Given the description of an element on the screen output the (x, y) to click on. 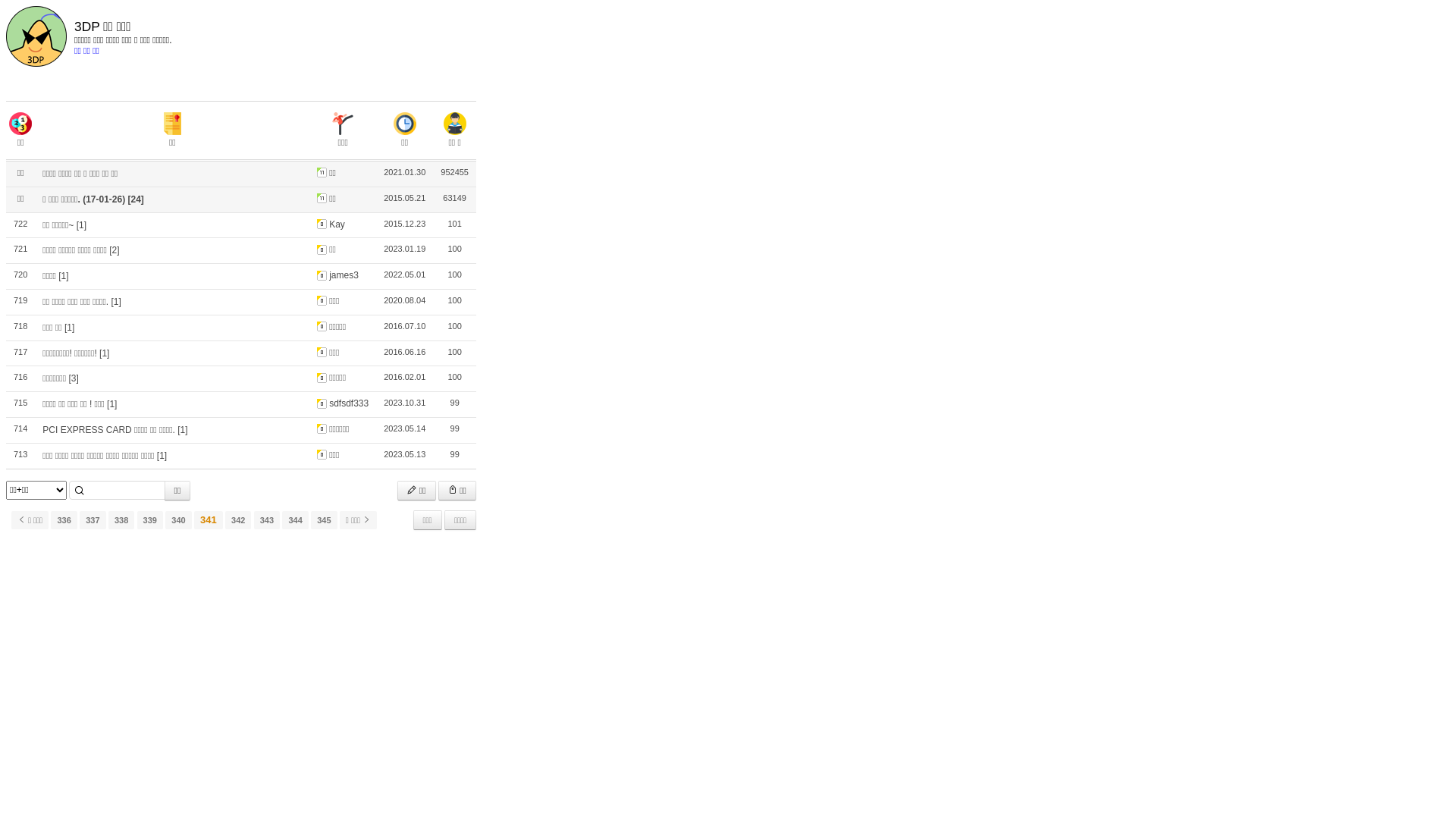
[1] Element type: text (104, 353)
[1] Element type: text (182, 429)
344 Element type: text (294, 520)
[1] Element type: text (111, 403)
336 Element type: text (63, 520)
sdfsdf333 Element type: text (342, 403)
[3] Element type: text (73, 378)
337 Element type: text (92, 520)
338 Element type: text (121, 520)
[24] Element type: text (136, 199)
345 Element type: text (323, 520)
340 Element type: text (178, 520)
[1] Element type: text (81, 224)
[1] Element type: text (115, 301)
339 Element type: text (150, 520)
[1] Element type: text (161, 455)
[2] Element type: text (114, 249)
[1] Element type: text (69, 327)
342 Element type: text (238, 520)
james3 Element type: text (337, 274)
Kay Element type: text (330, 224)
[1] Element type: text (63, 275)
343 Element type: text (266, 520)
